Given the description of an element on the screen output the (x, y) to click on. 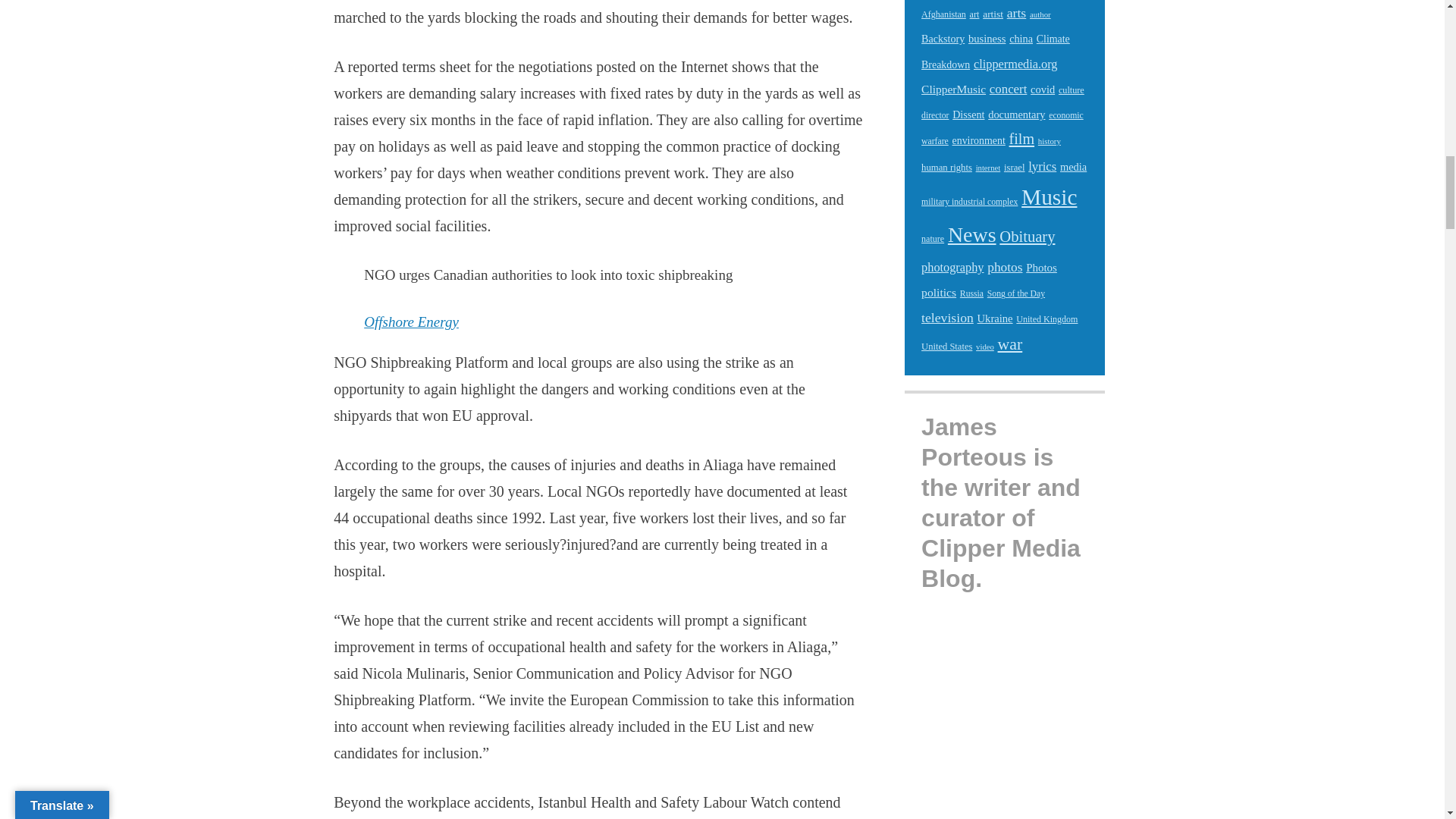
Afghanistan (943, 14)
Offshore Energy (411, 321)
art (974, 14)
